Given the description of an element on the screen output the (x, y) to click on. 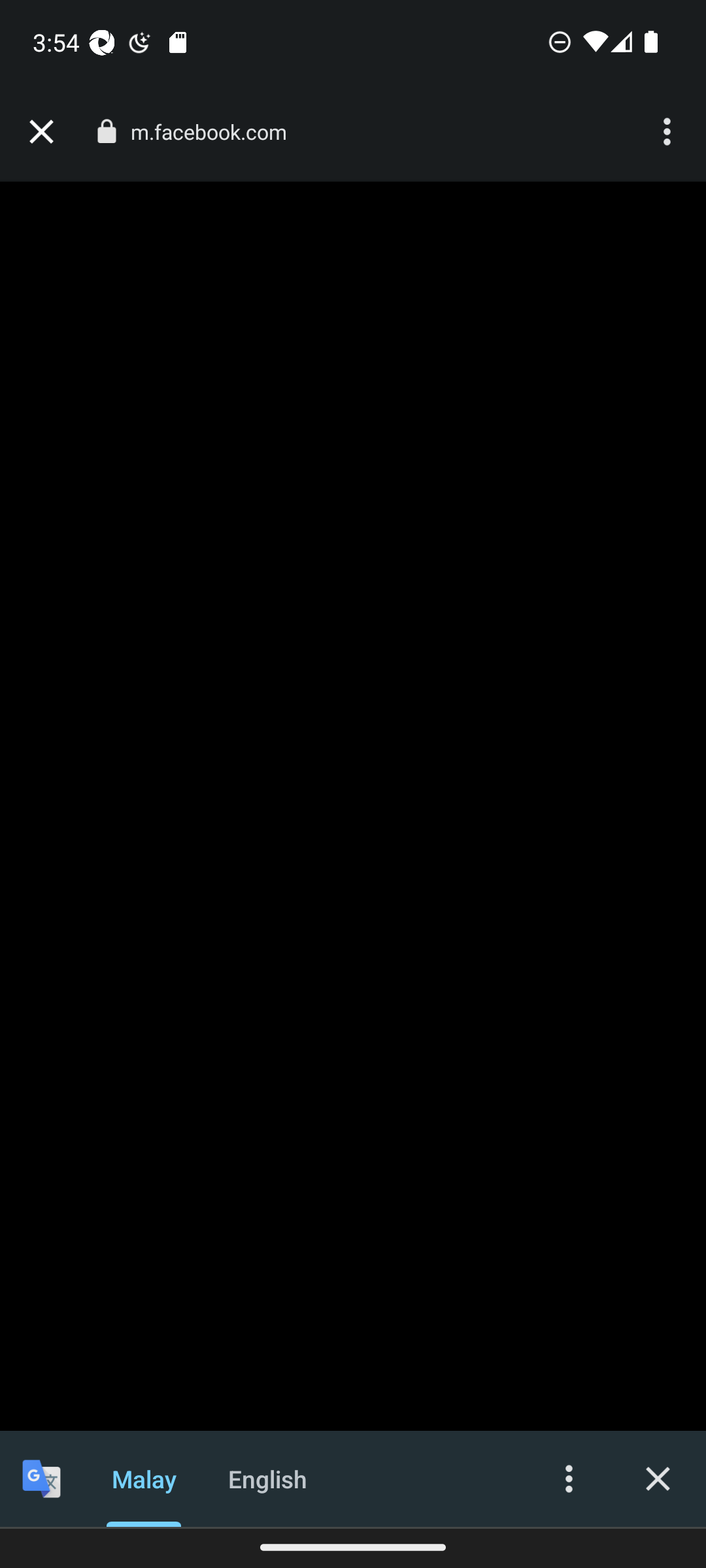
Close tab (41, 131)
More options (669, 131)
Connection is secure (106, 131)
m.facebook.com (215, 131)
English (267, 1478)
More options (568, 1478)
Close (657, 1478)
